Given the description of an element on the screen output the (x, y) to click on. 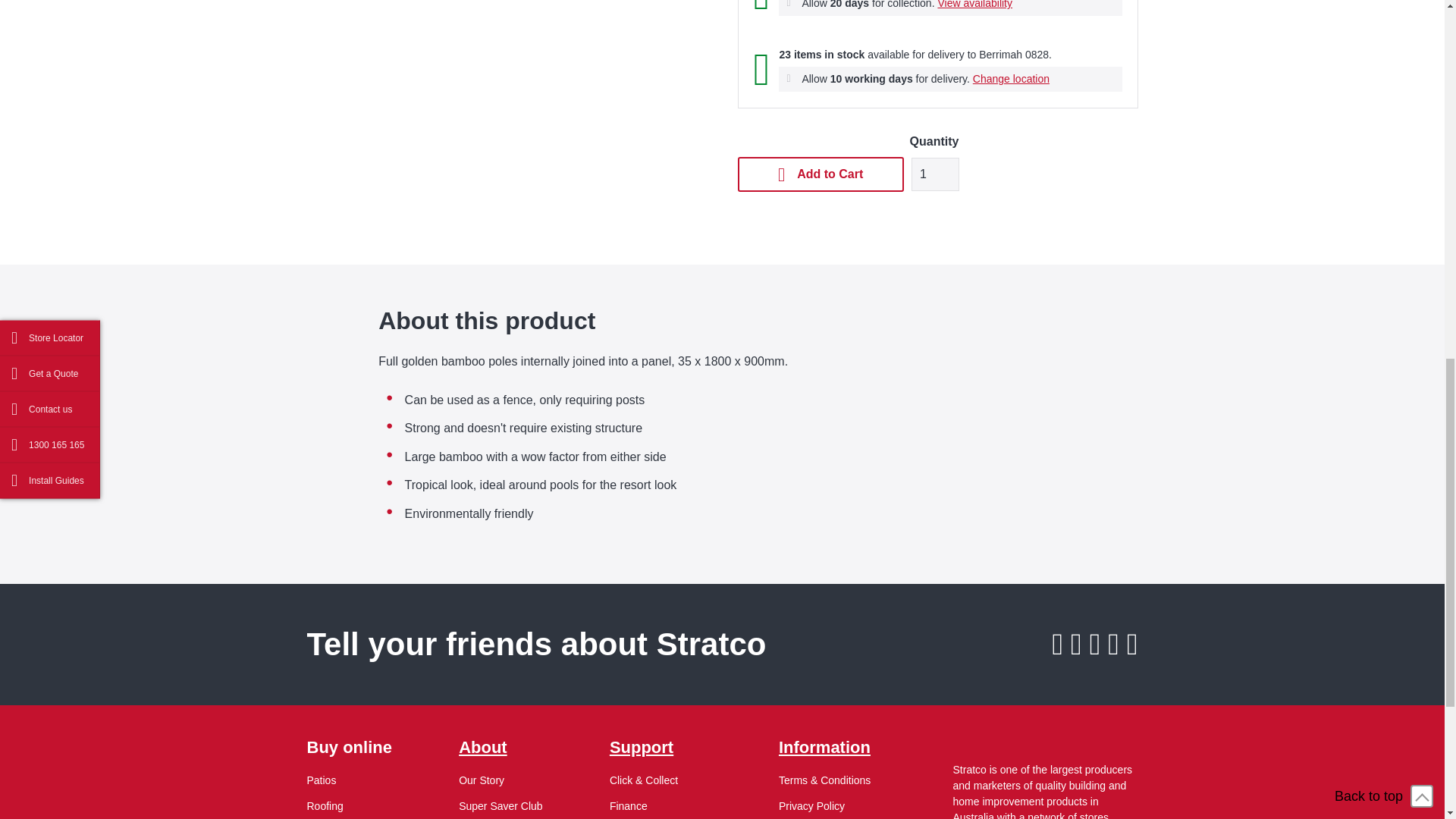
Patios (320, 779)
1 (935, 174)
